Given the description of an element on the screen output the (x, y) to click on. 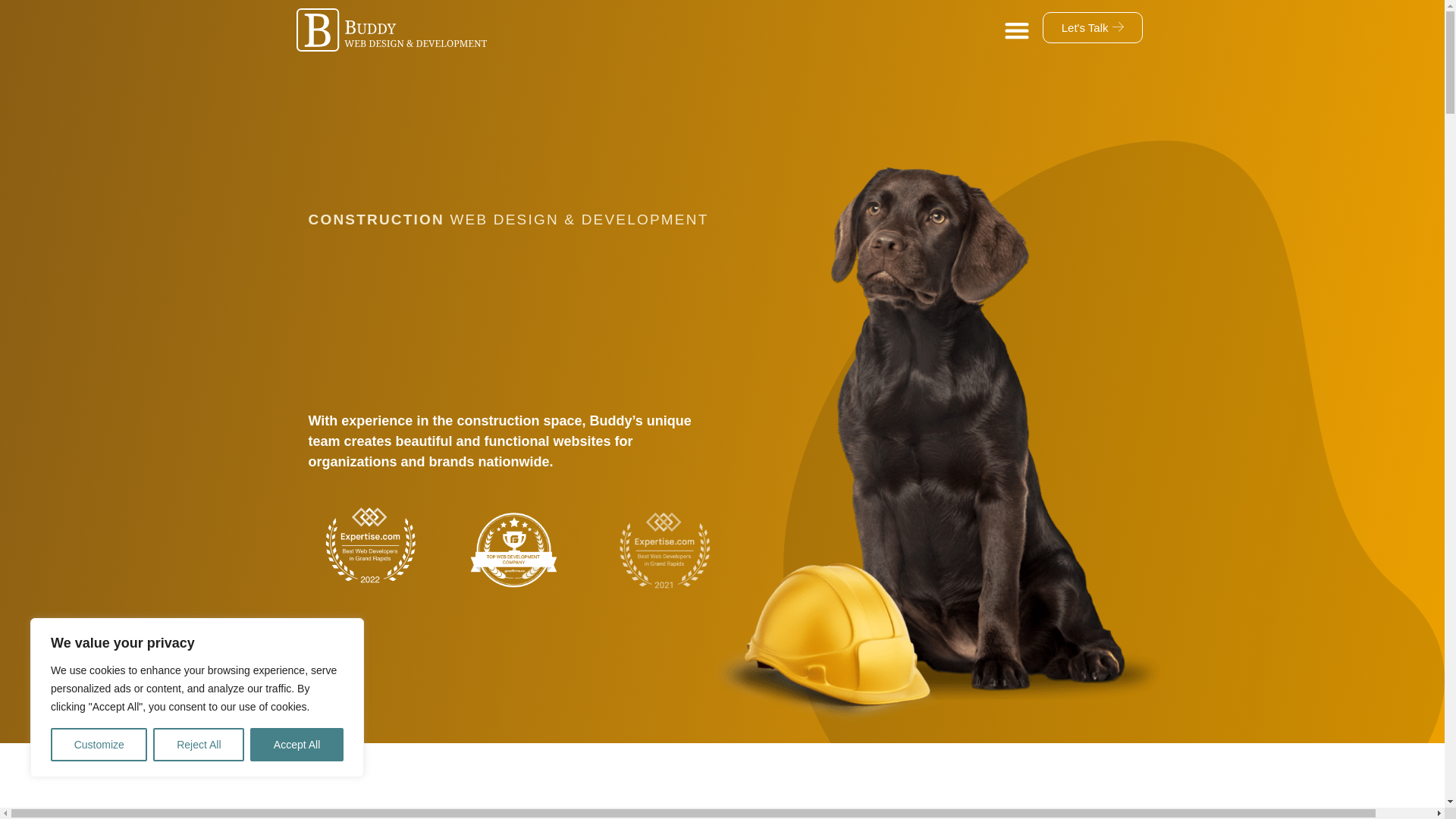
Reject All (198, 744)
Let's Talk (1092, 27)
Accept All (296, 744)
Customize (98, 744)
